Given the description of an element on the screen output the (x, y) to click on. 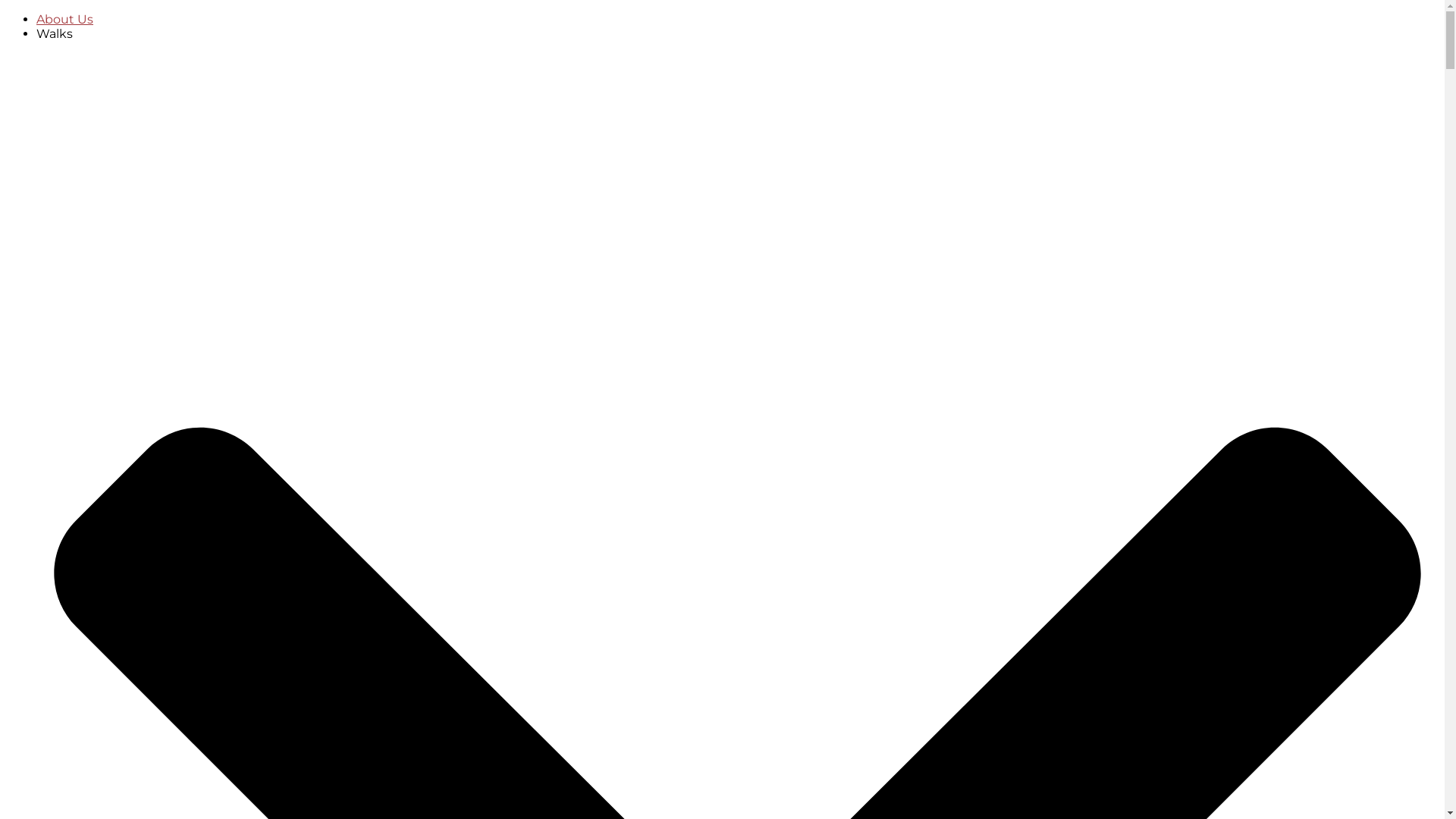
About Us Element type: text (64, 19)
